Given the description of an element on the screen output the (x, y) to click on. 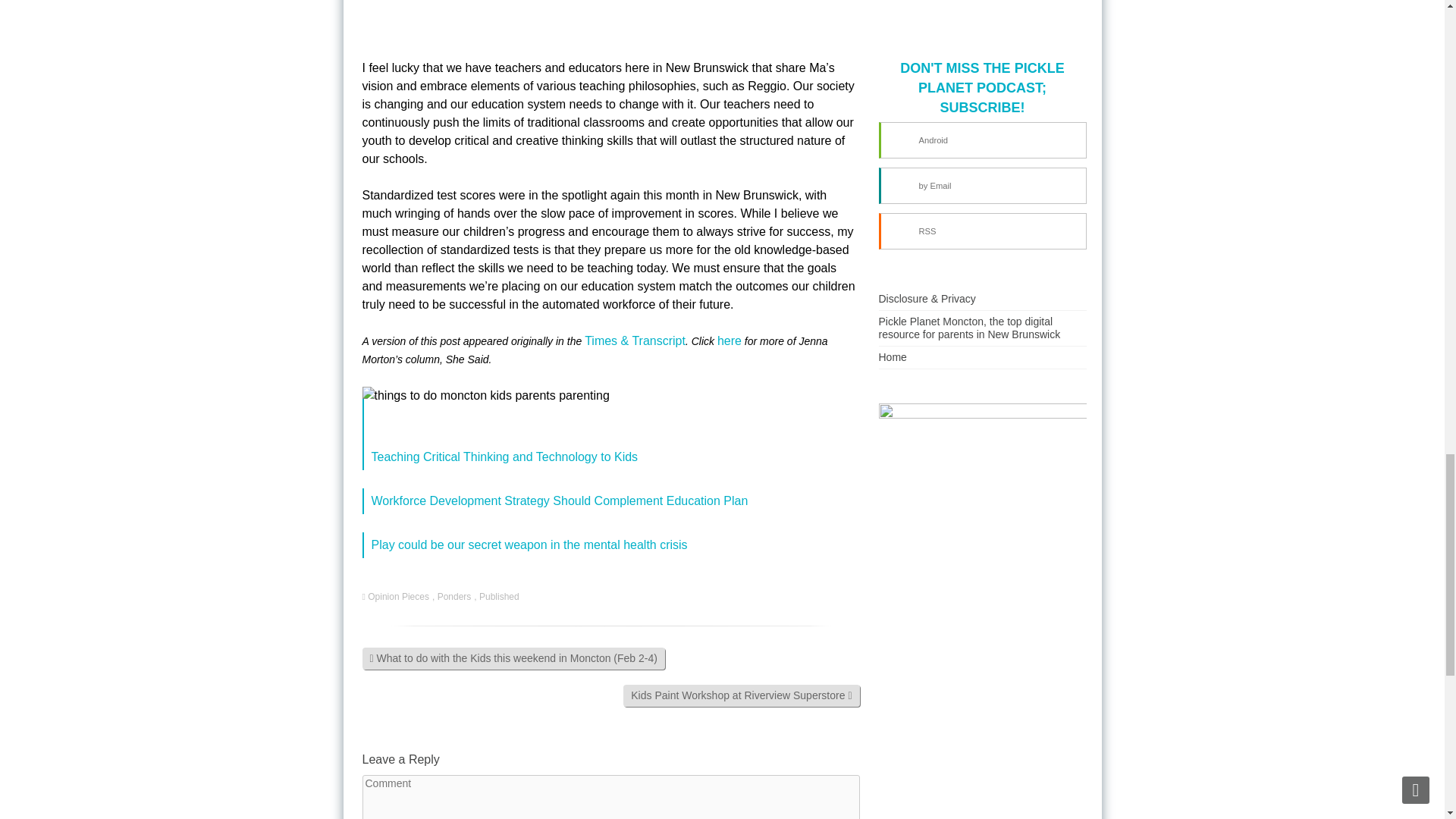
here (729, 340)
Subscribe via RSS (981, 230)
Subscribe on Android (981, 140)
Teaching Critical Thinking and Technology to Kids (505, 456)
Subscribe by Email (981, 185)
